Given the description of an element on the screen output the (x, y) to click on. 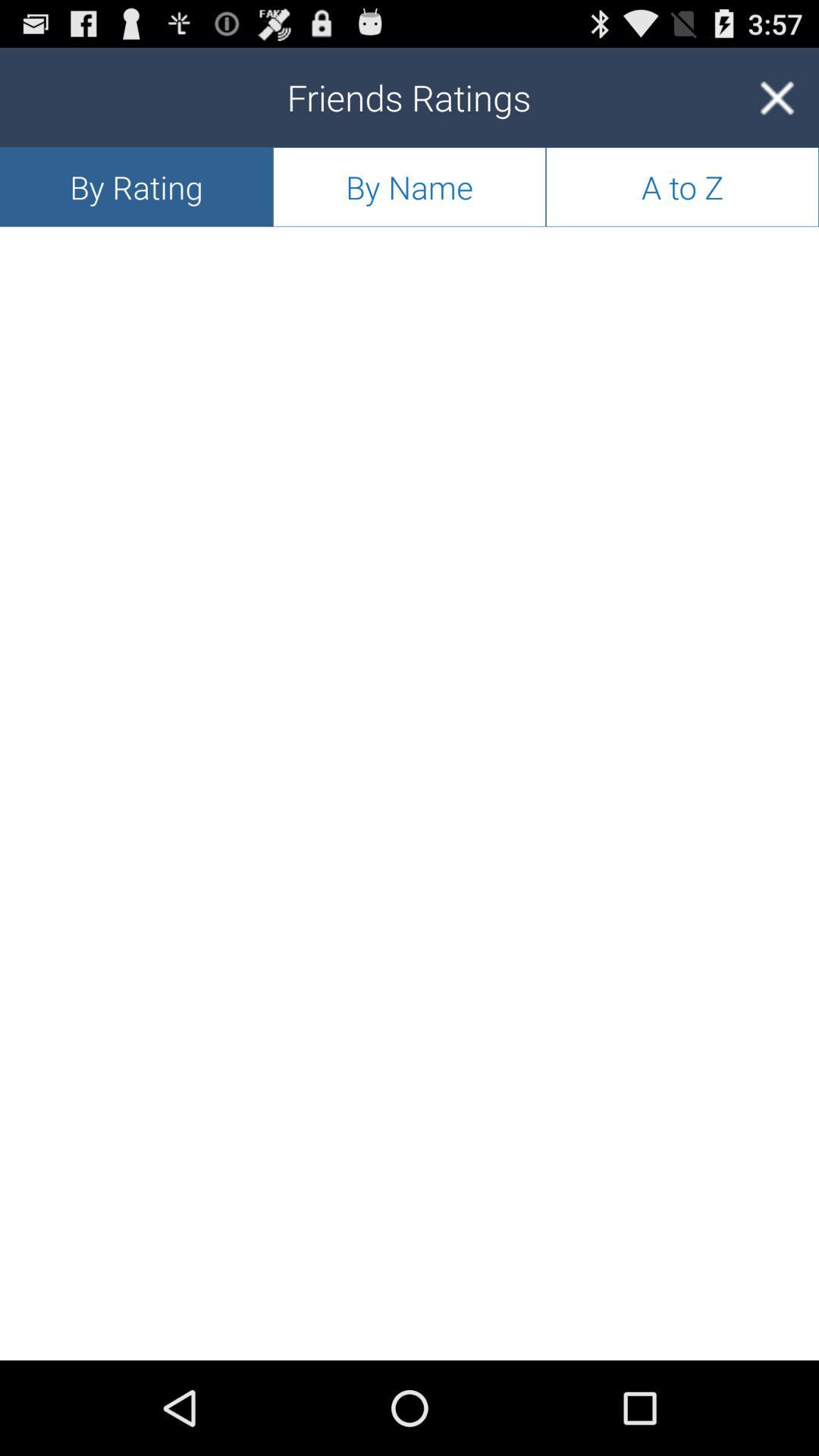
tap icon next to by name item (136, 186)
